Given the description of an element on the screen output the (x, y) to click on. 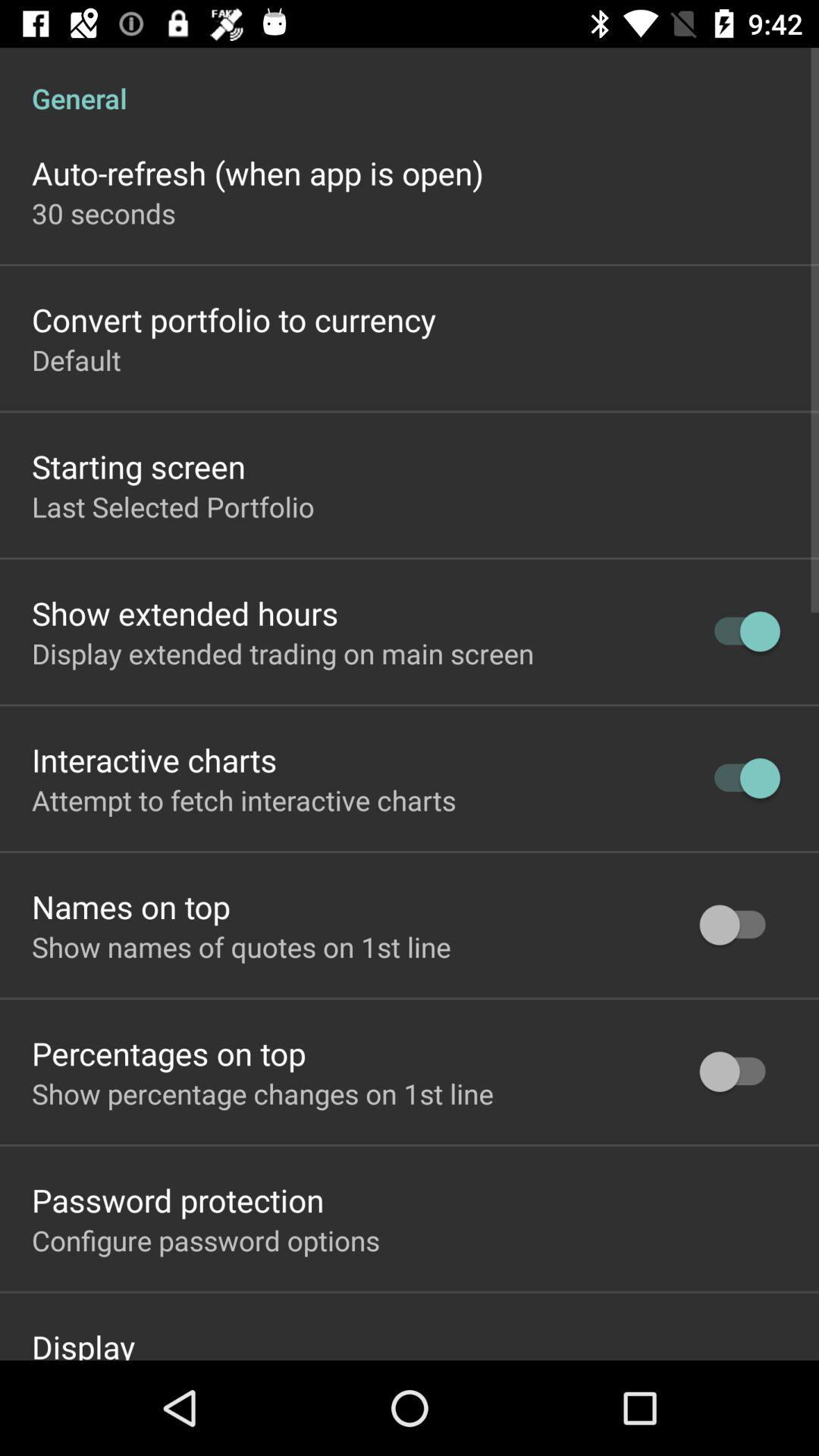
turn on item above interactive charts item (282, 653)
